Given the description of an element on the screen output the (x, y) to click on. 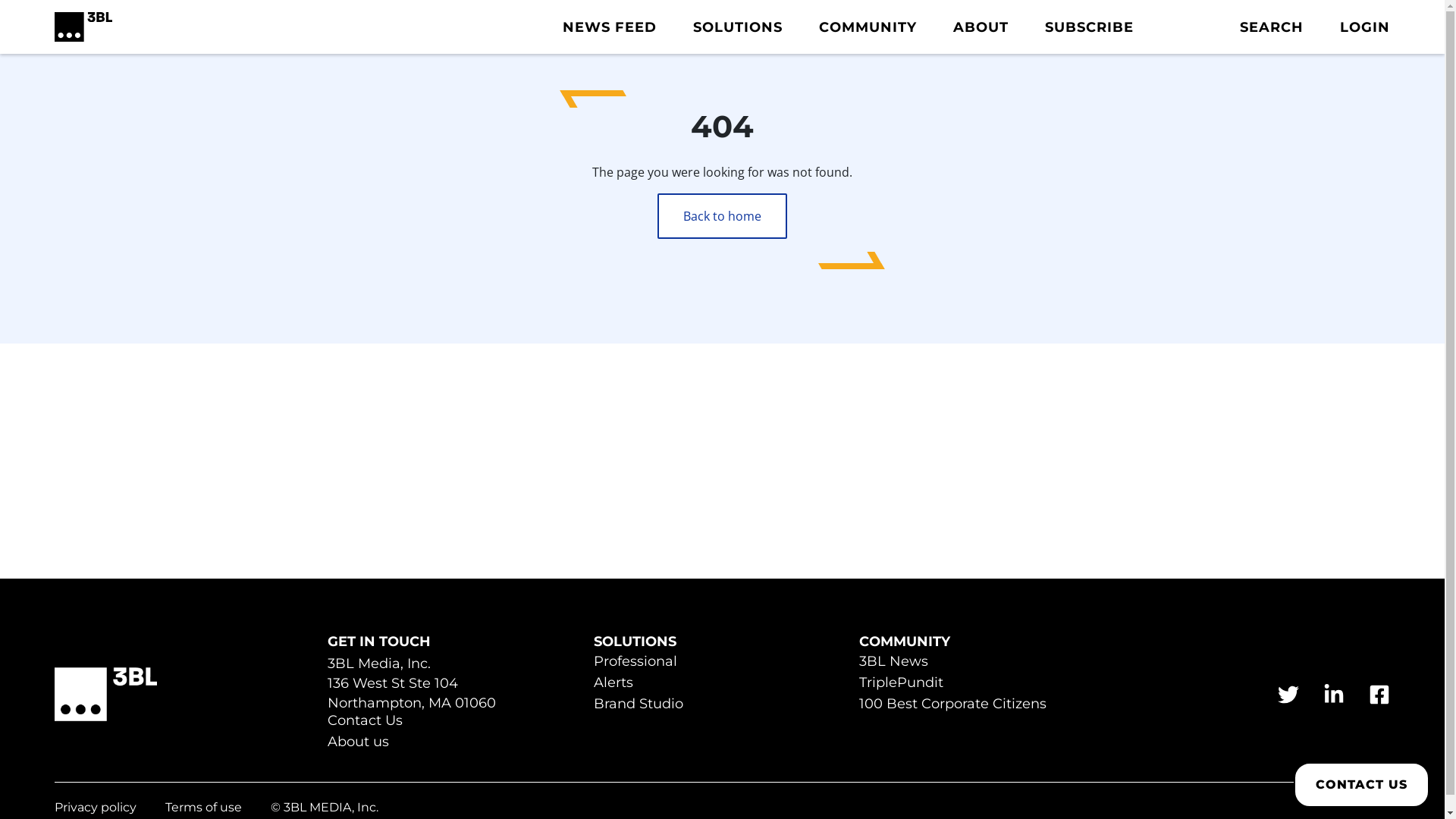
SUBSCRIBE Element type: text (1088, 26)
Terms of use Element type: text (203, 808)
LOGIN Element type: text (1364, 26)
TriplePundit Element type: text (901, 683)
NEWS FEED Element type: text (609, 26)
Professional Element type: text (635, 662)
link to 3 B L Media's Linkedin Element type: hover (1333, 694)
link to 3 B L Media's Facebook Element type: hover (1379, 694)
3BL News Element type: text (893, 662)
SOLUTIONS Element type: text (737, 26)
About us Element type: text (358, 743)
Contact Us Element type: text (364, 721)
ABOUT Element type: text (980, 26)
100 Best Corporate Citizens Element type: text (952, 705)
CONTACT US Element type: text (1361, 784)
SEARCH Element type: text (1271, 26)
Brand Studio Element type: text (638, 705)
Privacy policy Element type: text (95, 808)
COMMUNITY Element type: text (867, 26)
Alerts Element type: text (613, 683)
Back to home Element type: text (722, 215)
link to 3 B L Media's Twitter Element type: hover (1288, 694)
